Given the description of an element on the screen output the (x, y) to click on. 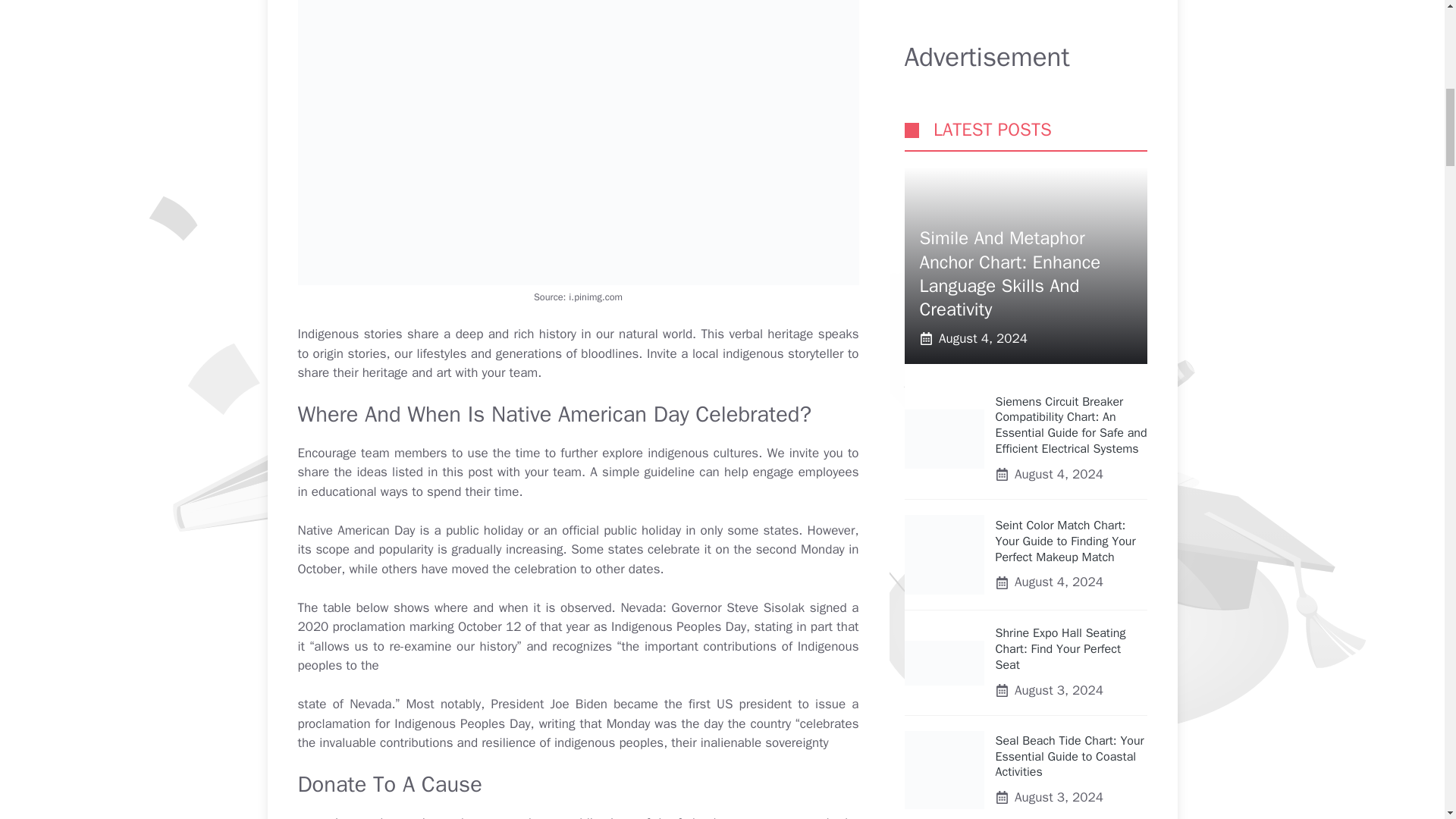
Shrine Expo Hall Seating Chart: Find Your Perfect Seat (1059, 194)
Scroll back to top (1406, 720)
Shrine Expo Hall Seating Chart: Find Your Perfect Seat (944, 208)
